Given the description of an element on the screen output the (x, y) to click on. 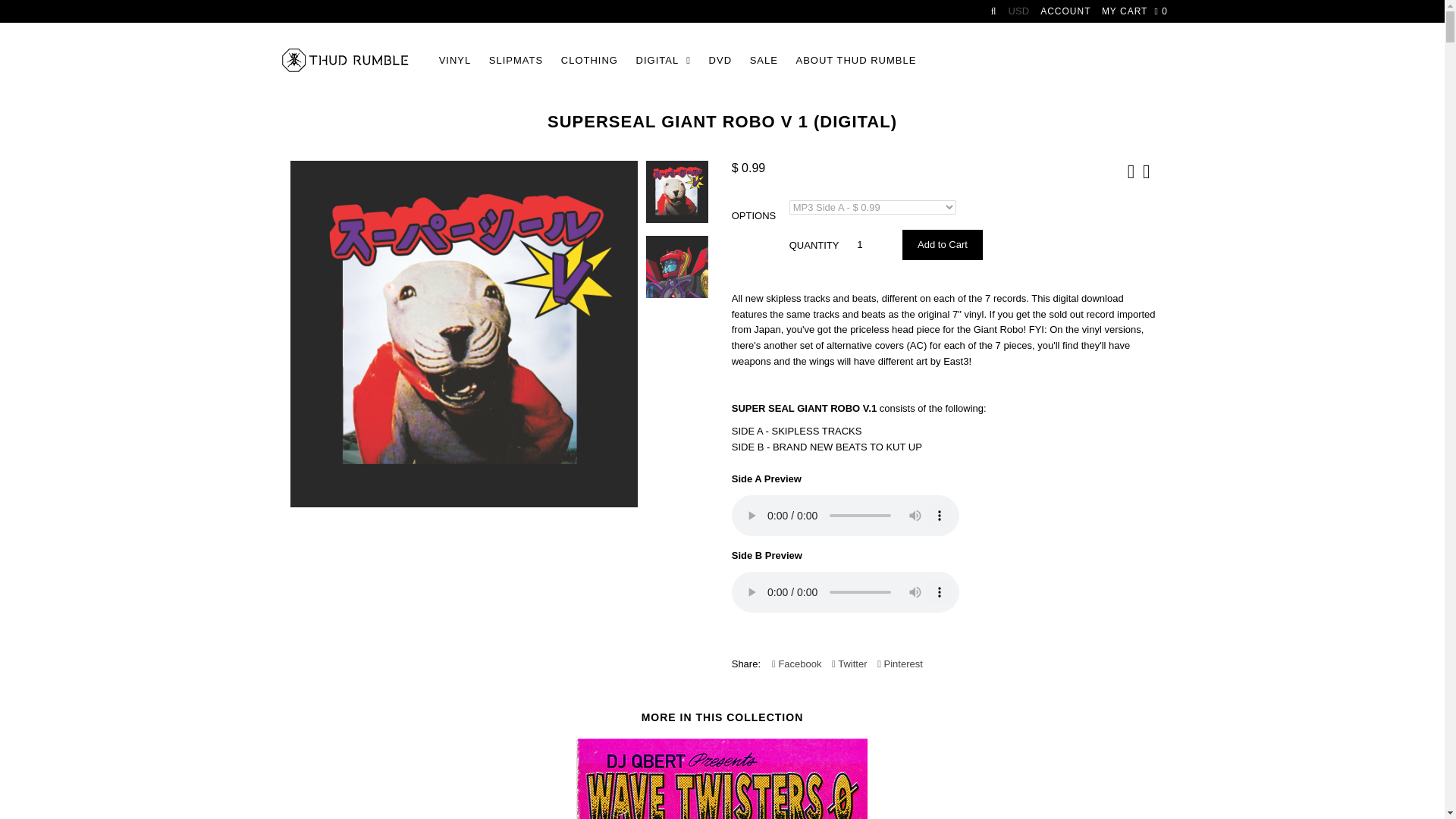
DIGITAL (663, 60)
SALE (764, 60)
MY CART  0 (1134, 10)
1 (864, 245)
Add to Cart (942, 245)
Add to Cart (942, 245)
Share on Twitter (848, 664)
Pinterest (900, 664)
Share on Facebook (796, 664)
CLOTHING (589, 60)
SLIPMATS (515, 60)
ACCOUNT (1065, 10)
DVD (720, 60)
Twitter (848, 664)
Share on Pinterest (900, 664)
